Given the description of an element on the screen output the (x, y) to click on. 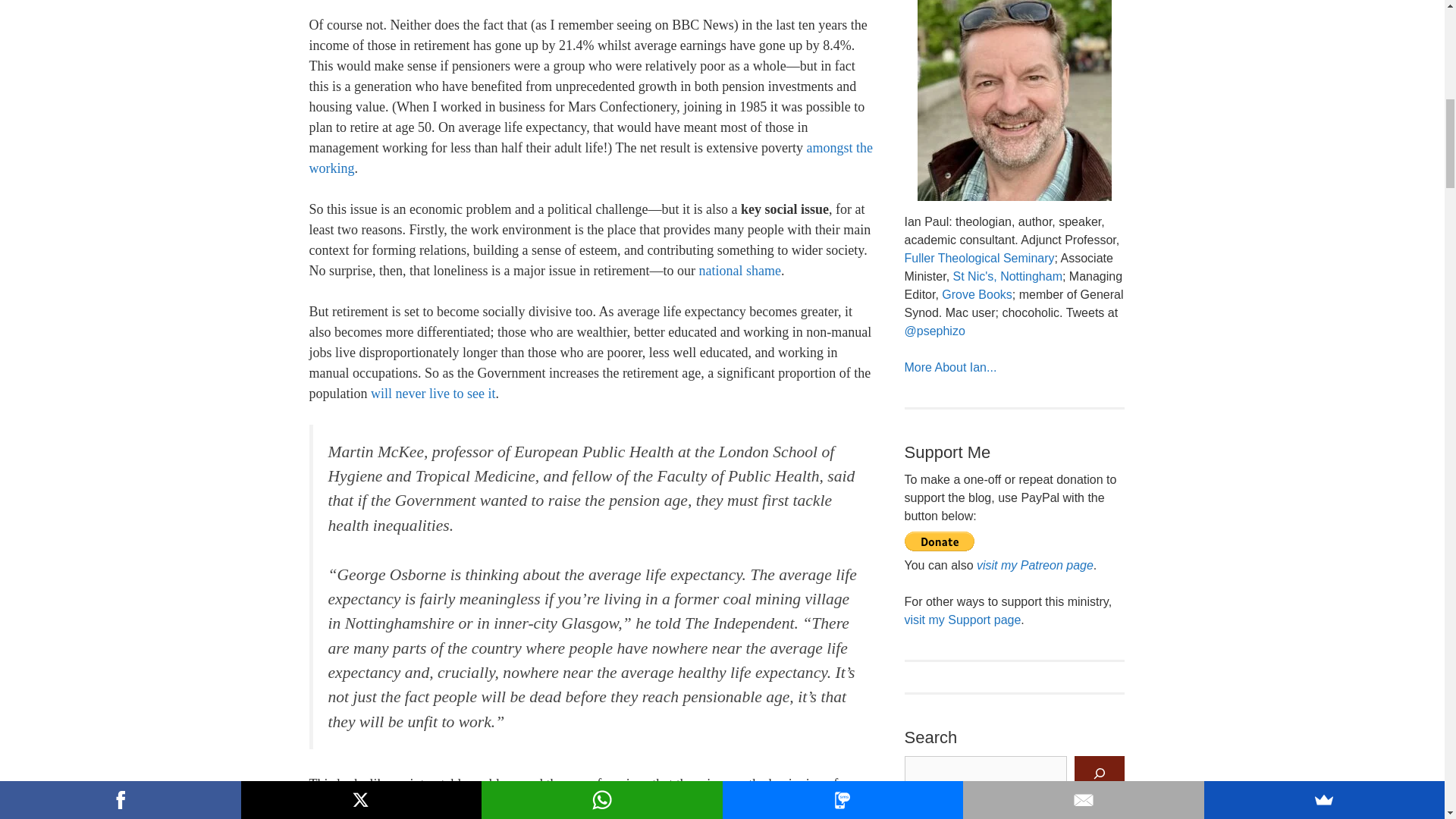
national shame (739, 270)
will never live to see it (433, 393)
amongst the working (590, 158)
Scroll back to top (1406, 720)
